Given the description of an element on the screen output the (x, y) to click on. 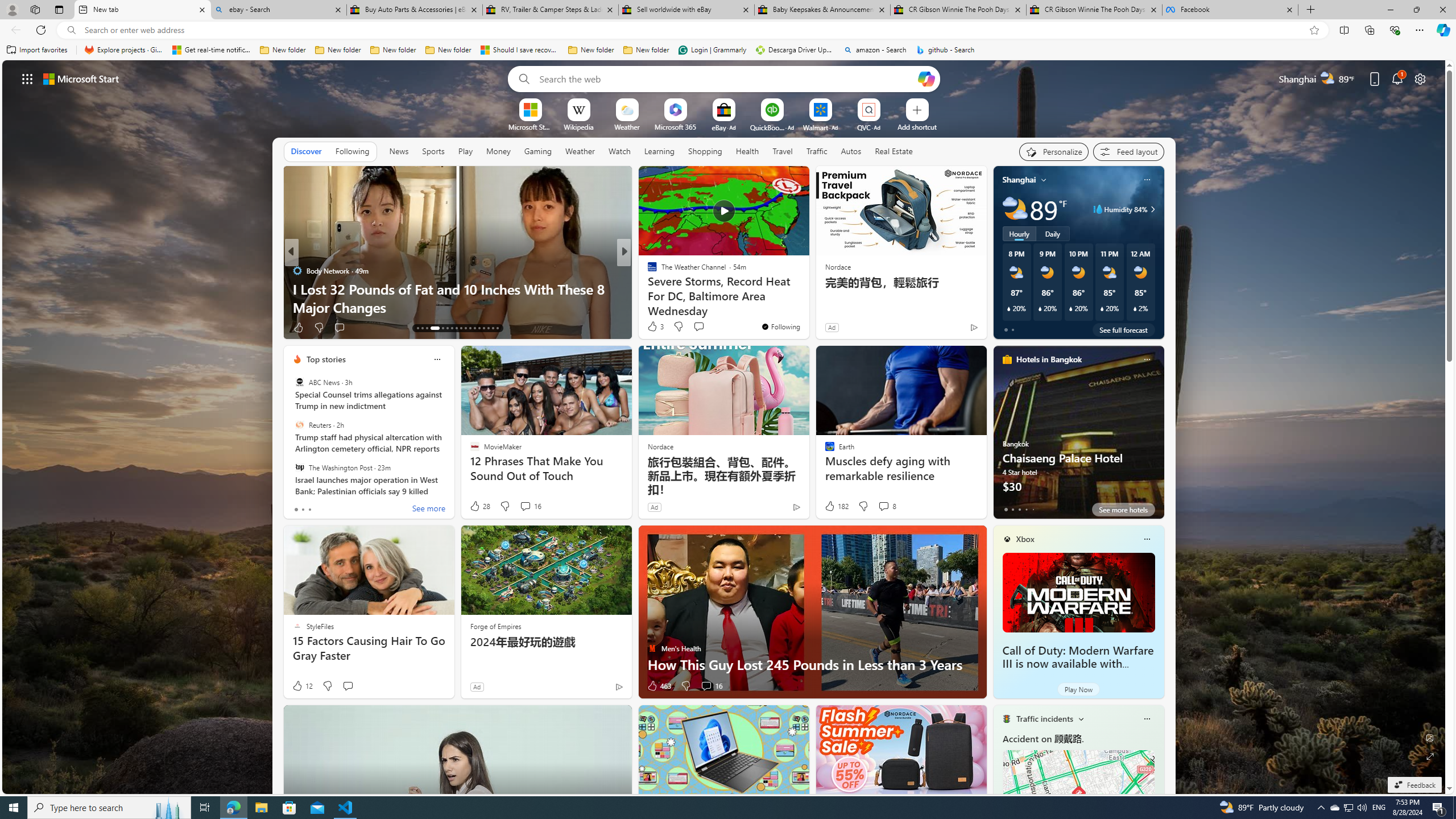
Health (746, 151)
182 Like (835, 505)
Spotlight Feature (647, 270)
AutomationID: tab-15 (426, 328)
Sports (432, 151)
Reuters (299, 424)
tab-2 (1019, 509)
12 Like (301, 685)
New folder (646, 49)
AutomationID: tab-24 (474, 328)
